Given the description of an element on the screen output the (x, y) to click on. 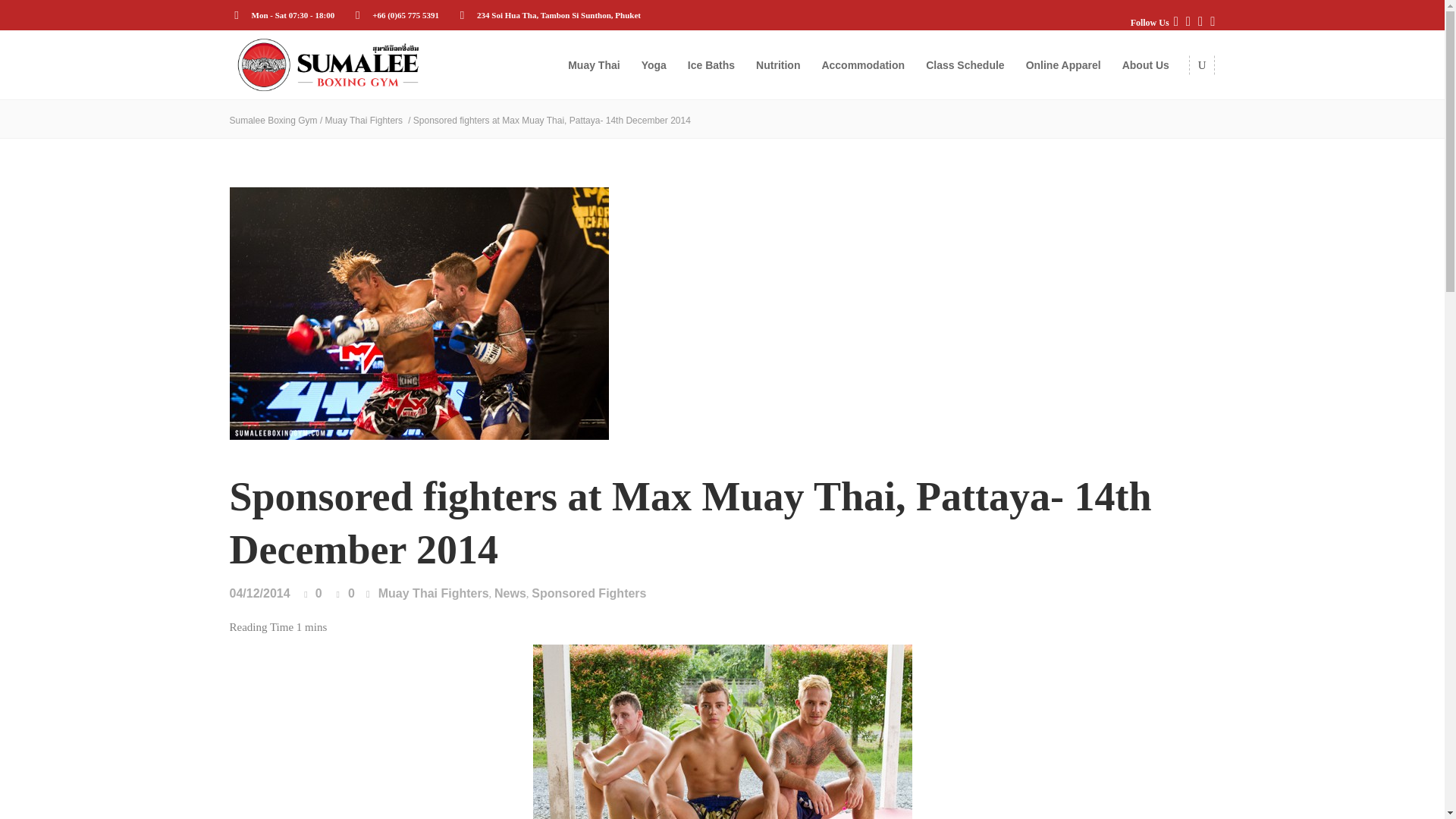
About Us (1145, 64)
Ice Baths (711, 64)
Class Schedule (964, 64)
Nutrition (777, 64)
Muay Thai (593, 64)
Like this (312, 593)
Online Apparel (1063, 64)
Accommodation (862, 64)
Sumalee Boxing Gym (328, 64)
